Given the description of an element on the screen output the (x, y) to click on. 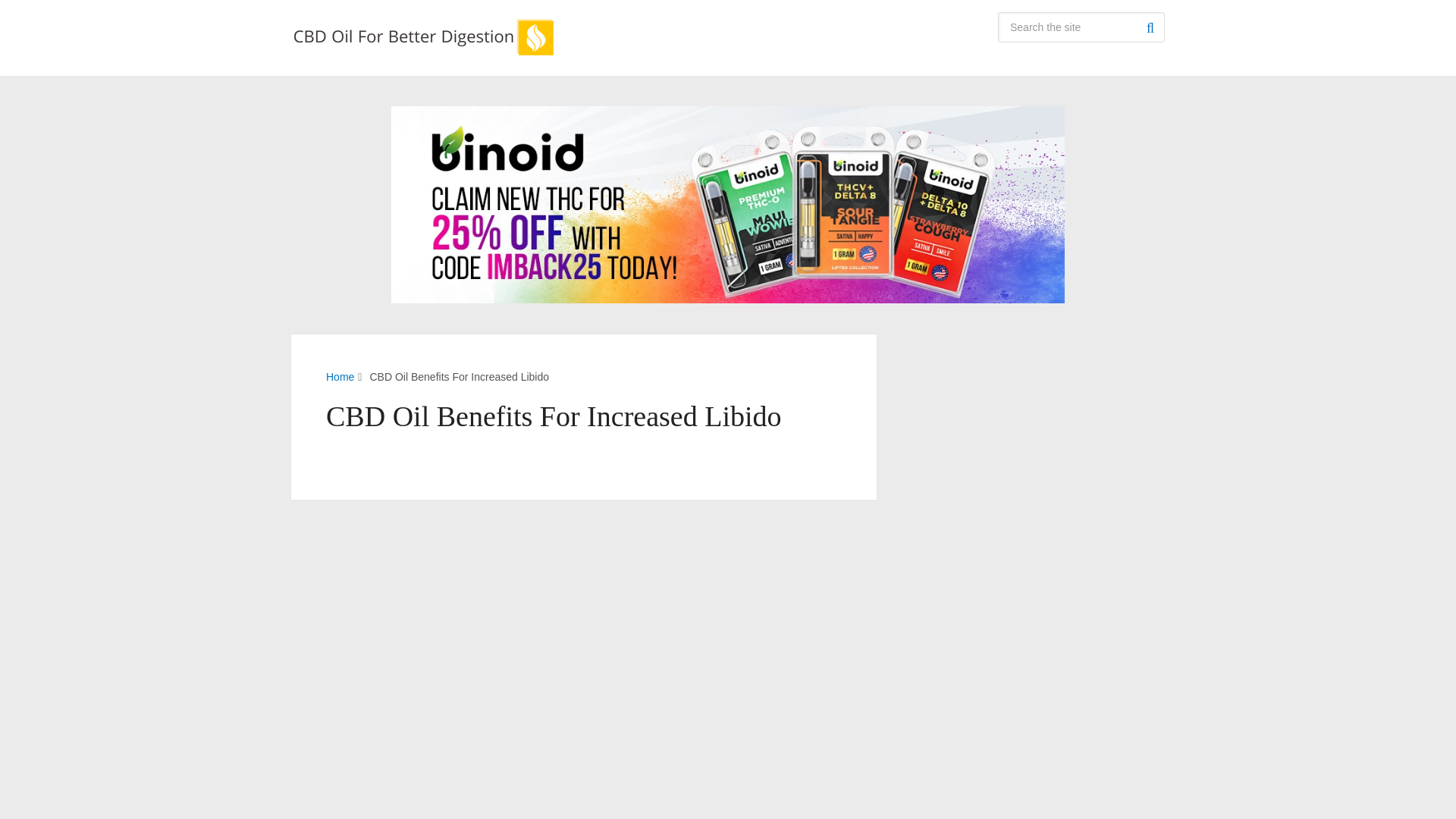
Home (339, 377)
Search (1149, 27)
